Given the description of an element on the screen output the (x, y) to click on. 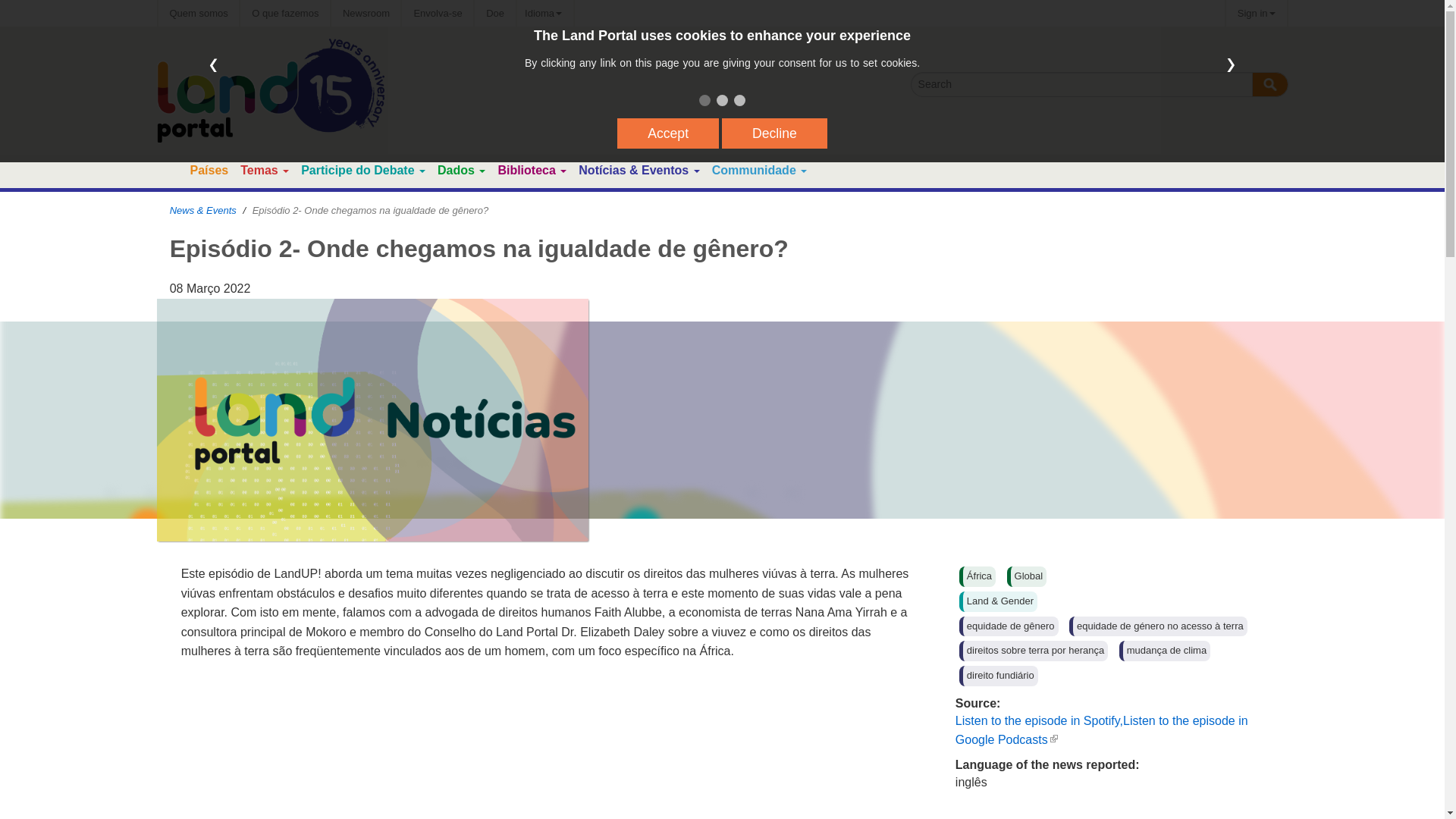
Doe (494, 13)
Decline (774, 133)
O que fazemos (285, 13)
Search (1268, 84)
Quem somos (197, 13)
Envolva-se (437, 13)
Doe (494, 13)
Home (169, 171)
Envolva-se (437, 13)
Sign in (1256, 13)
Temas (259, 169)
Accept (668, 133)
Quem somos (197, 13)
O que fazemos (285, 13)
Newsroom (366, 13)
